Given the description of an element on the screen output the (x, y) to click on. 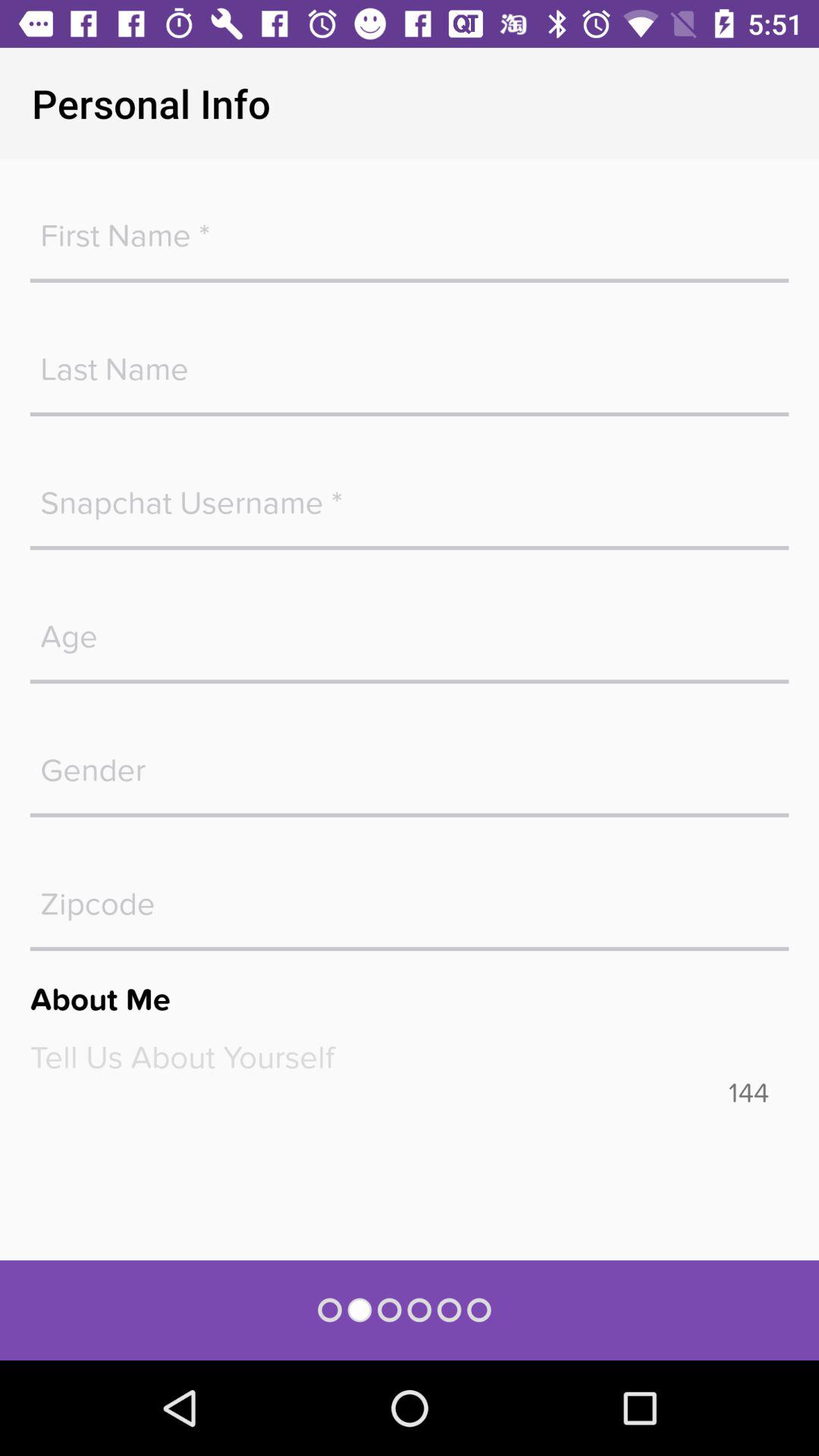
age box (409, 628)
